Given the description of an element on the screen output the (x, y) to click on. 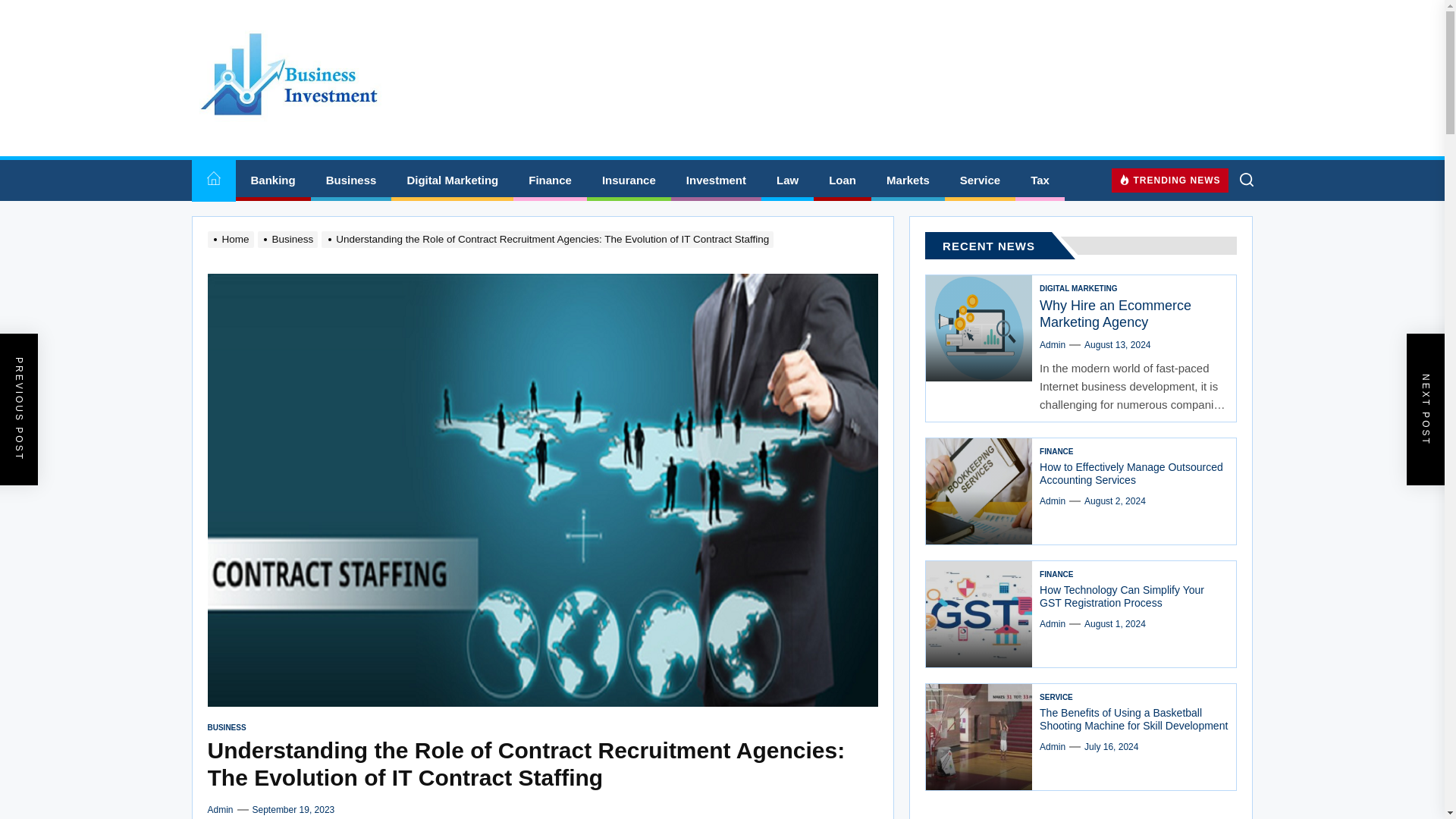
How to Effectively Manage Outsourced Accounting Services (1131, 473)
Loan (841, 180)
Insurance (628, 180)
Finance (549, 180)
Markets (907, 180)
Service (979, 180)
Business (351, 180)
Home (212, 180)
Law (787, 180)
My Blog (261, 151)
